Given the description of an element on the screen output the (x, y) to click on. 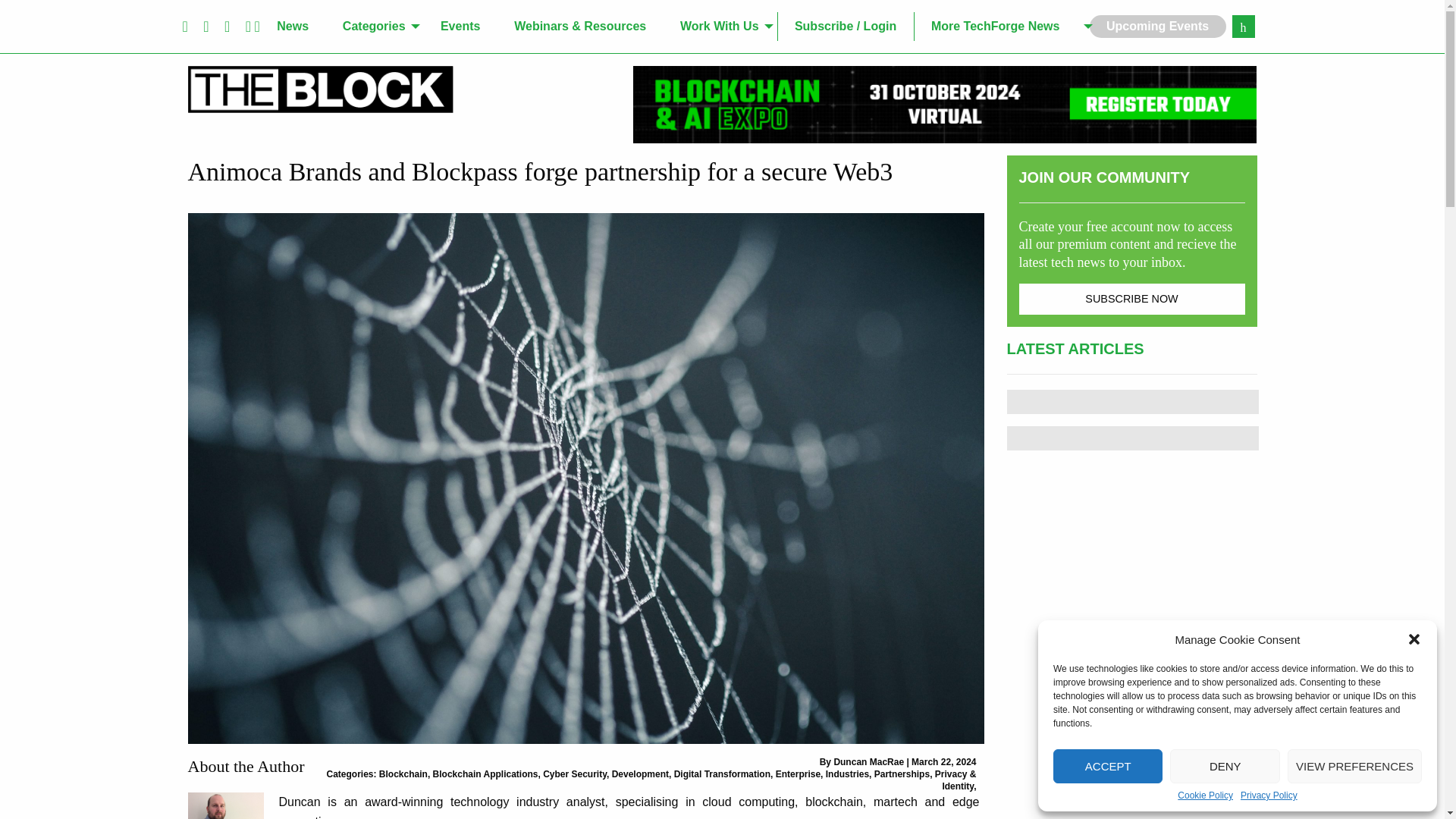
Privacy Policy (1268, 795)
Posts by Duncan MacRae (868, 761)
Search for: (1242, 26)
VIEW PREFERENCES (1354, 765)
ACCEPT (1106, 765)
News (293, 26)
Cookie Policy (1205, 795)
Categories (373, 26)
